Given the description of an element on the screen output the (x, y) to click on. 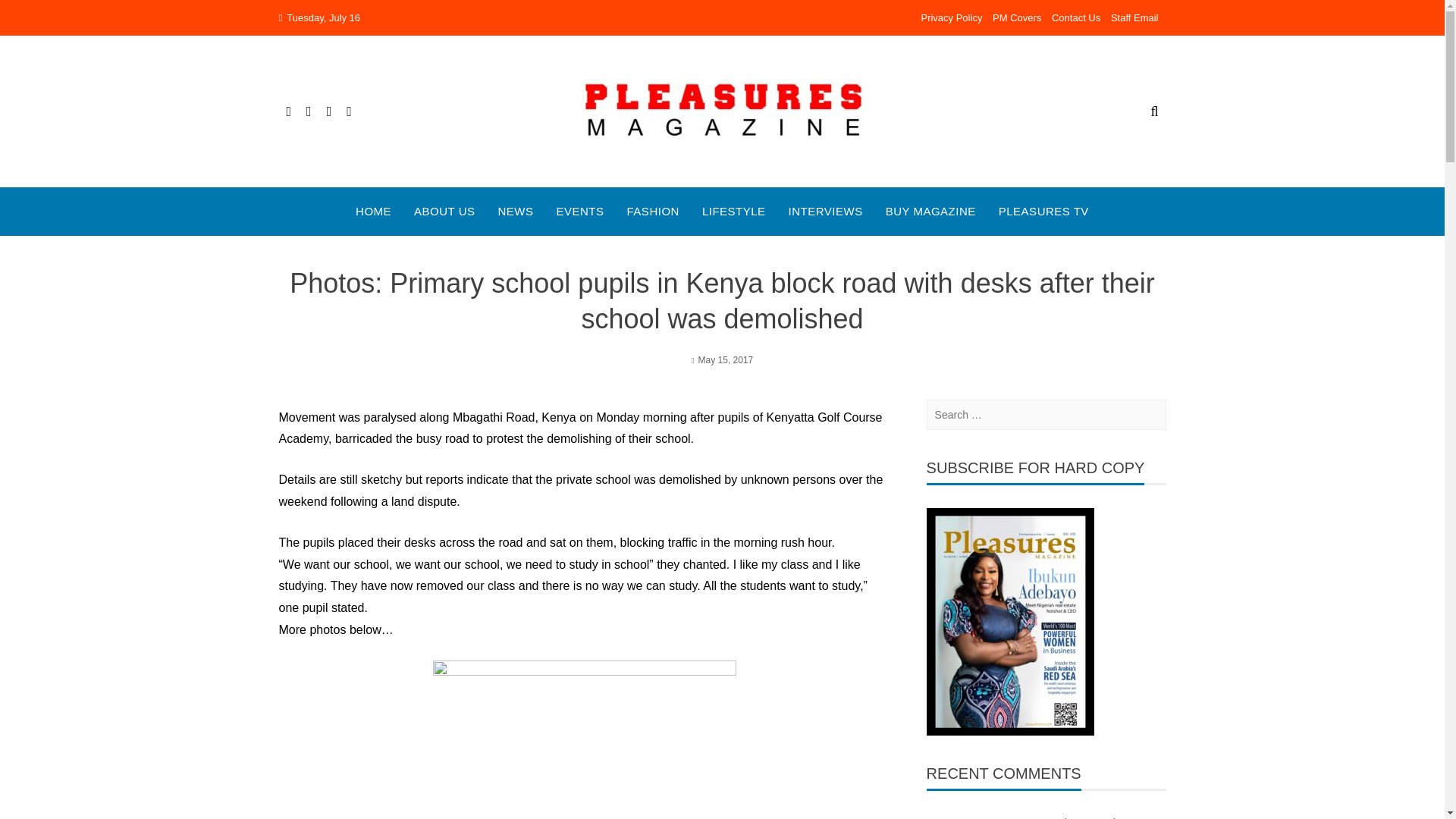
NEWS (515, 211)
LIFESTYLE (733, 211)
PM Covers (1016, 17)
INTERVIEWS (826, 211)
PLEASURES TV (1043, 211)
Contact Us (1075, 17)
EVENTS (580, 211)
Staff Email (1134, 17)
Privacy Policy (950, 17)
Search (32, 15)
HOME (373, 211)
FASHION (653, 211)
ABOUT US (443, 211)
BUY MAGAZINE (930, 211)
